Given the description of an element on the screen output the (x, y) to click on. 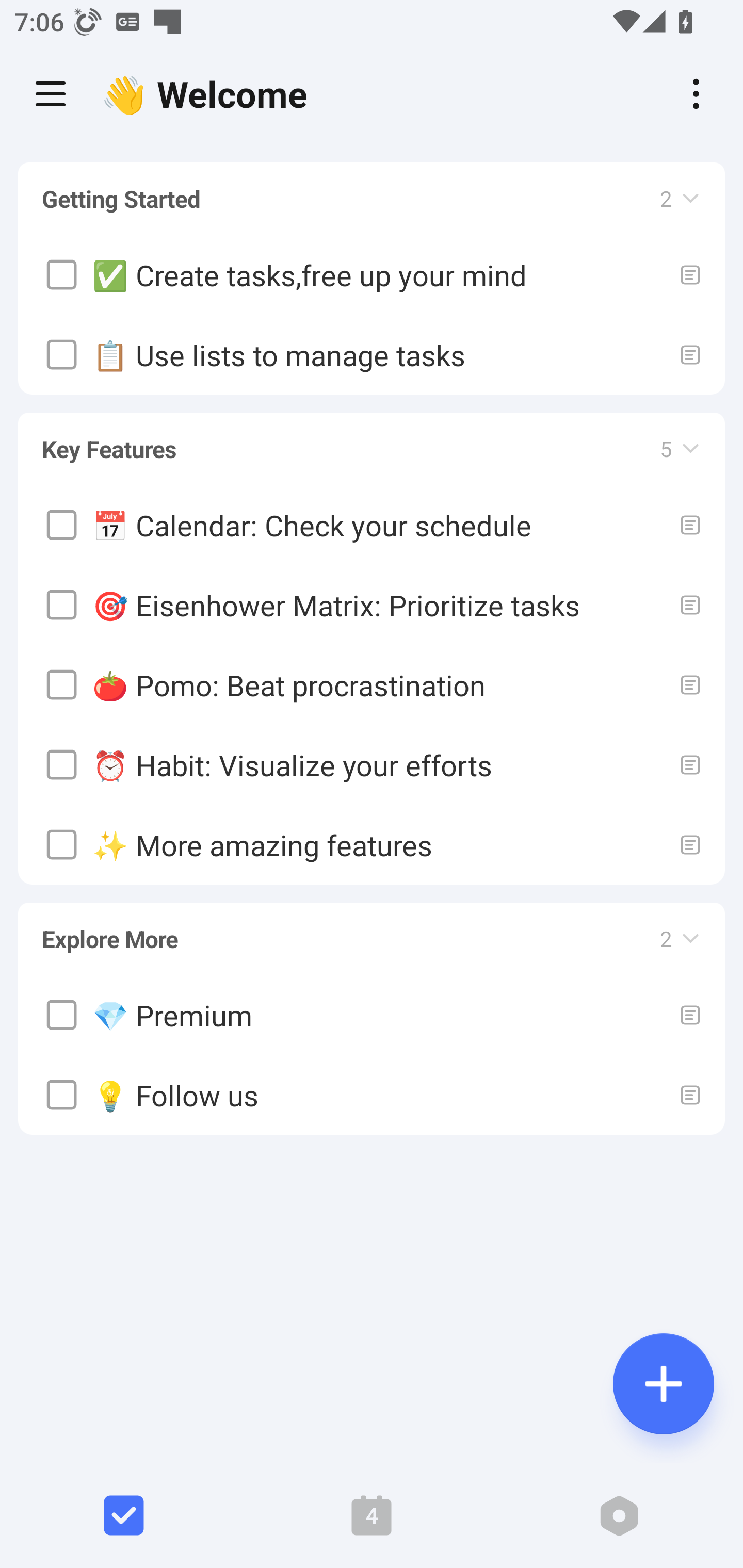
👋 Welcome (209, 93)
Getting Started 2 (371, 199)
✅ Create tasks,free up your mind (371, 275)
📋 Use lists to manage tasks (371, 355)
Key Features 5 (371, 439)
📅 Calendar: Check your schedule (371, 524)
🎯 Eisenhower Matrix: Prioritize tasks (371, 604)
🍅 Pomo: Beat procrastination (371, 684)
⏰ Habit: Visualize your efforts (371, 764)
✨ More amazing features (371, 844)
Explore More 2 (371, 929)
💎 Premium (371, 1015)
💡 Follow us (371, 1095)
